Given the description of an element on the screen output the (x, y) to click on. 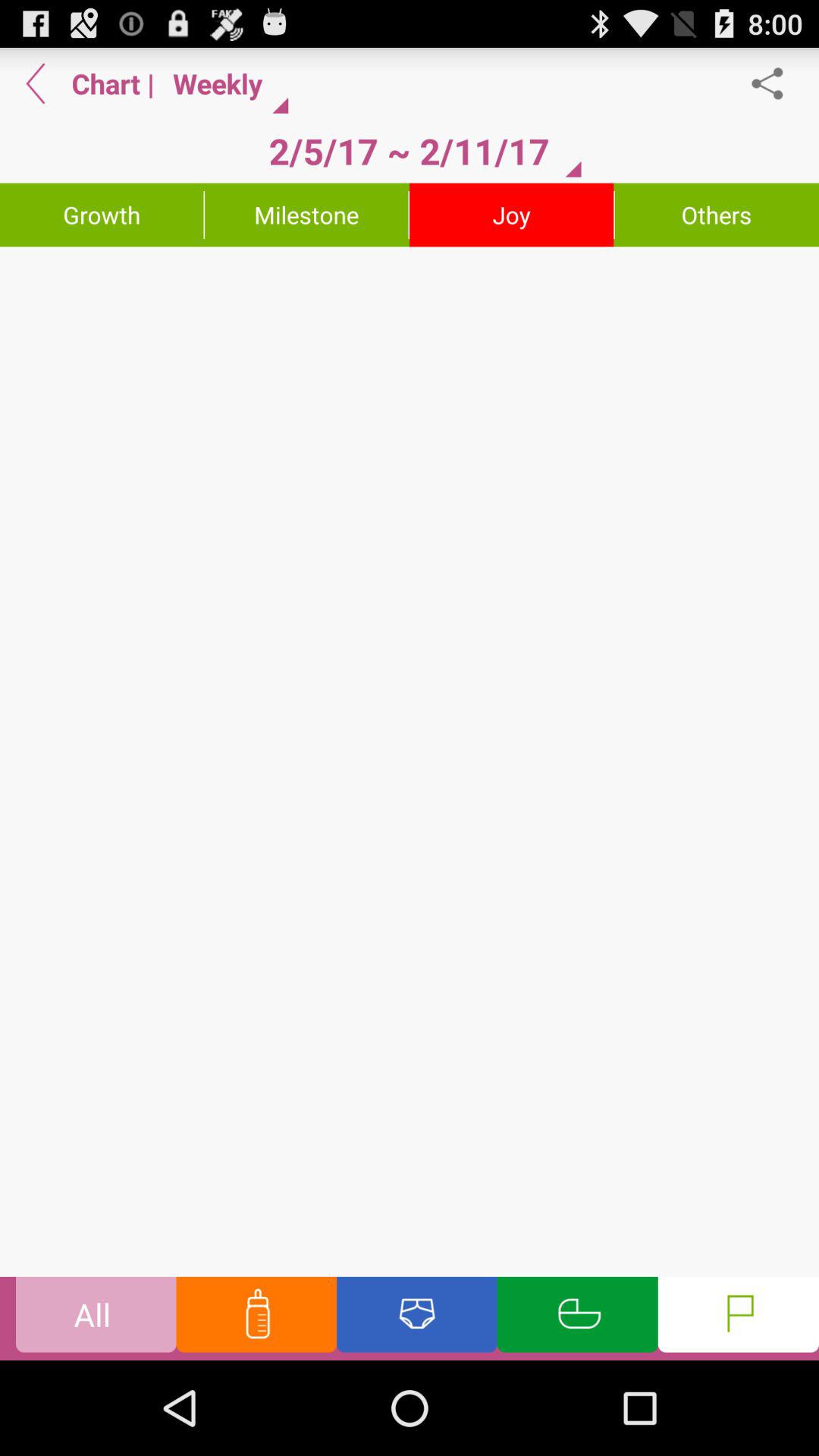
turn off the button below the growth item (409, 761)
